Given the description of an element on the screen output the (x, y) to click on. 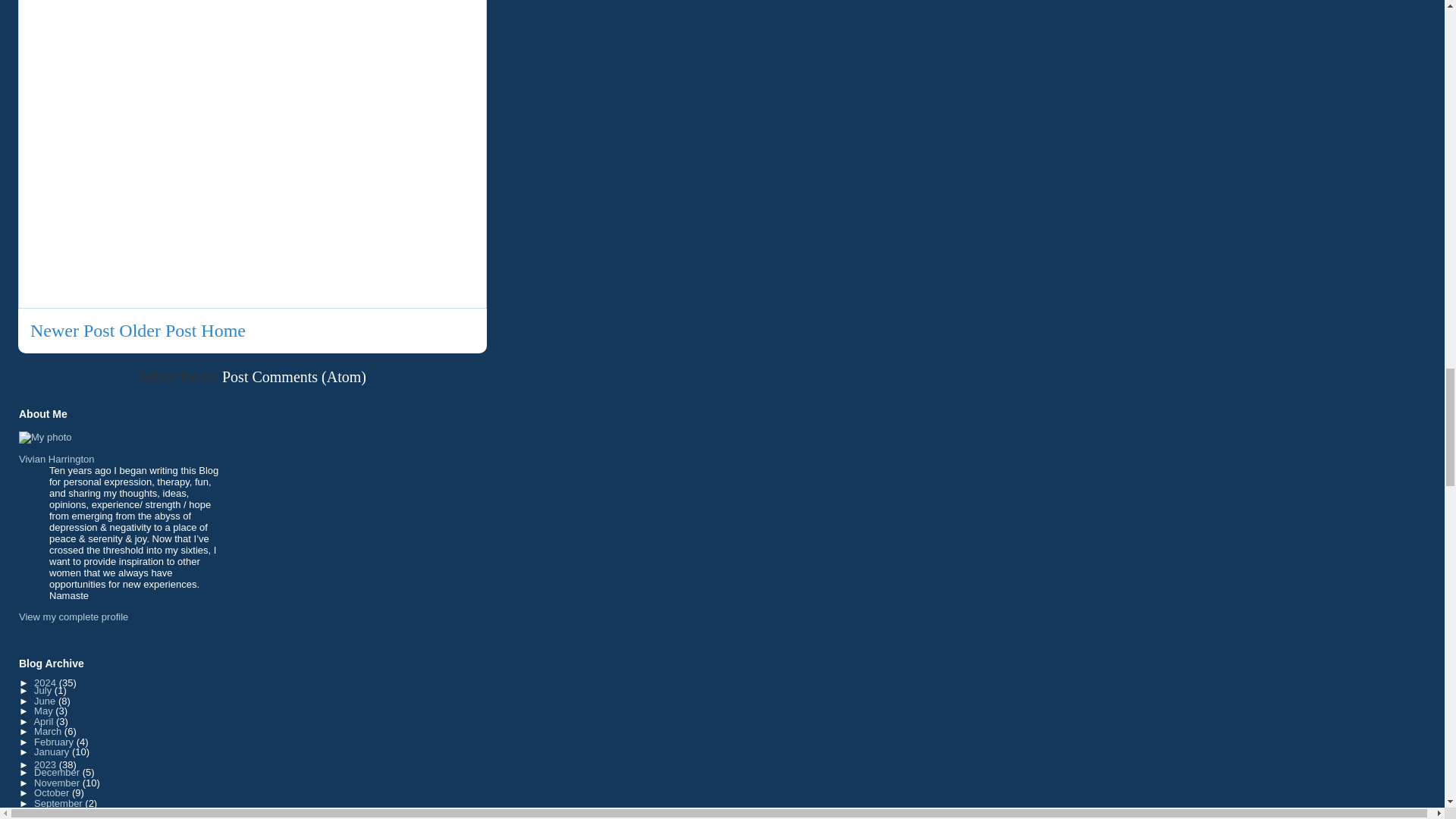
View my complete profile (73, 616)
Older Post (157, 330)
Newer Post (72, 330)
2023 (46, 764)
February (55, 741)
May (44, 710)
Vivian Harrington (56, 459)
March (48, 731)
Older Post (157, 330)
Home (223, 330)
Newer Post (72, 330)
April (44, 721)
July (44, 690)
2024 (46, 682)
June (45, 700)
